Given the description of an element on the screen output the (x, y) to click on. 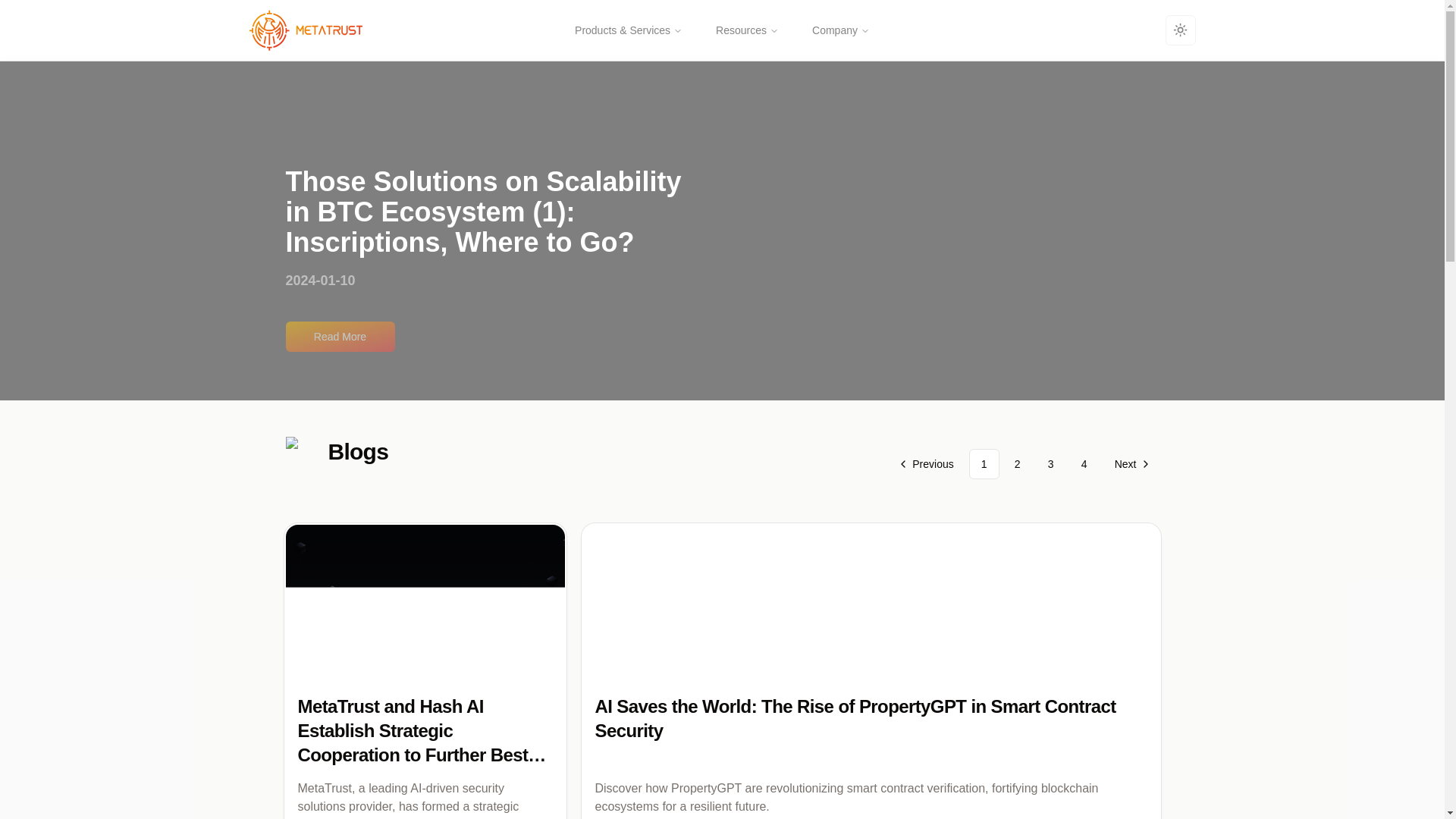
Toggle theme (1179, 30)
4 (1083, 463)
Read More (721, 327)
Resources (746, 30)
Next (1130, 463)
3 (1050, 463)
Back to Home (297, 30)
Read More (339, 336)
Previous (927, 463)
2 (1017, 463)
1 (983, 463)
Company (840, 30)
